Given the description of an element on the screen output the (x, y) to click on. 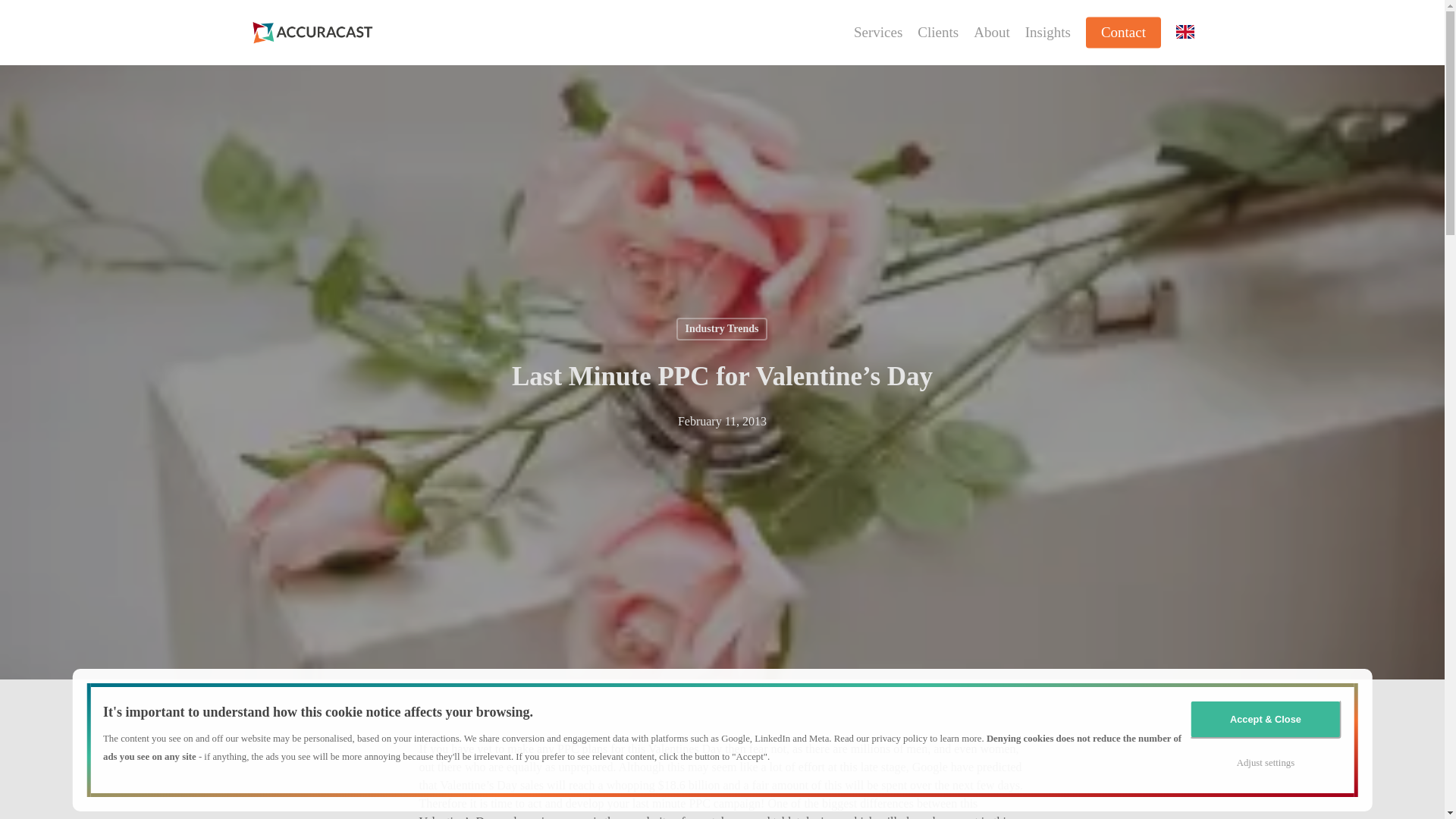
Clients (937, 32)
About (992, 32)
Services (877, 32)
